Given the description of an element on the screen output the (x, y) to click on. 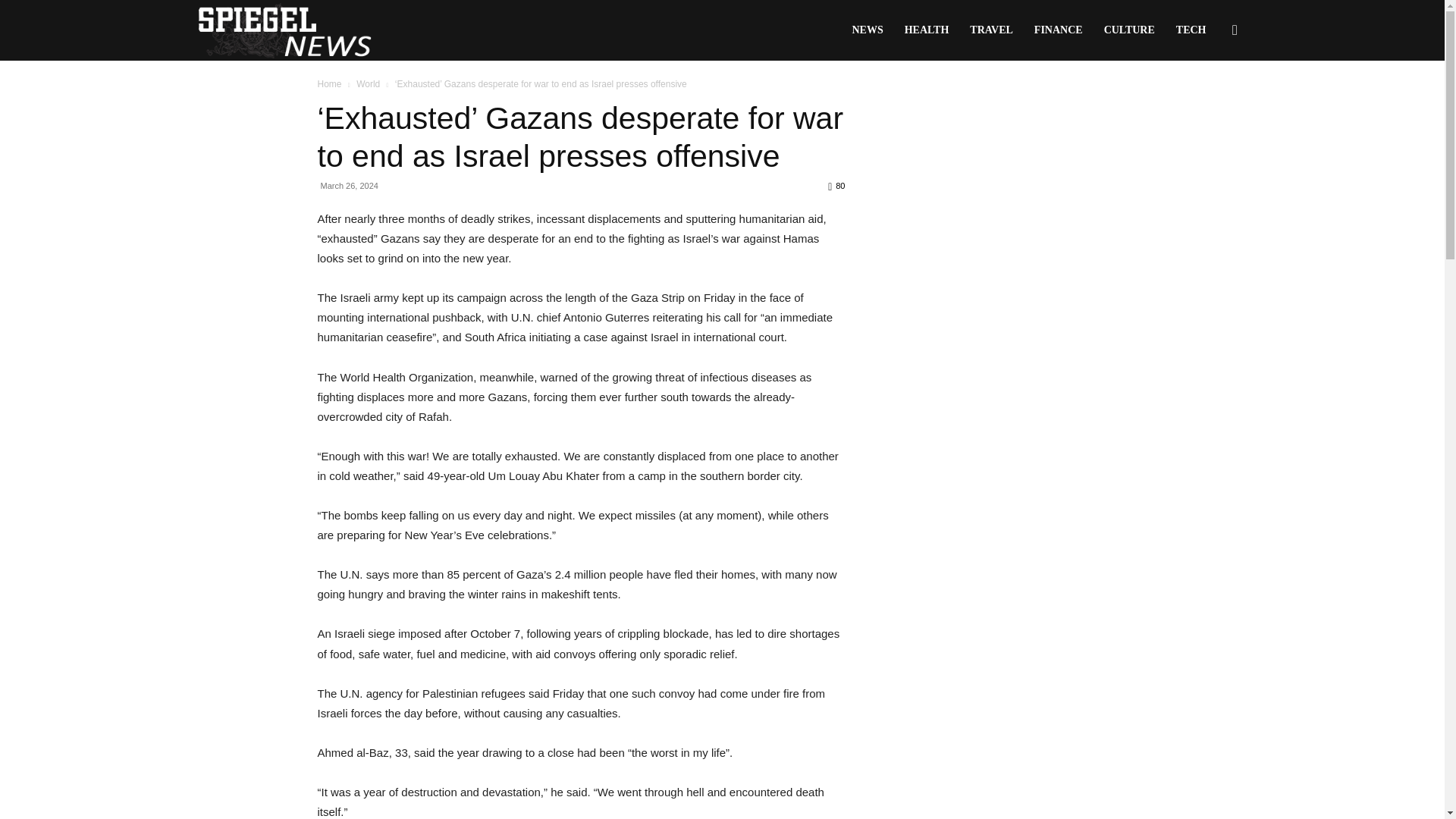
Spiegel News (284, 30)
FINANCE (1058, 30)
CULTURE (1129, 30)
Search (1210, 102)
World (368, 83)
Home (328, 83)
HEALTH (926, 30)
View all posts in World (368, 83)
TRAVEL (991, 30)
